Given the description of an element on the screen output the (x, y) to click on. 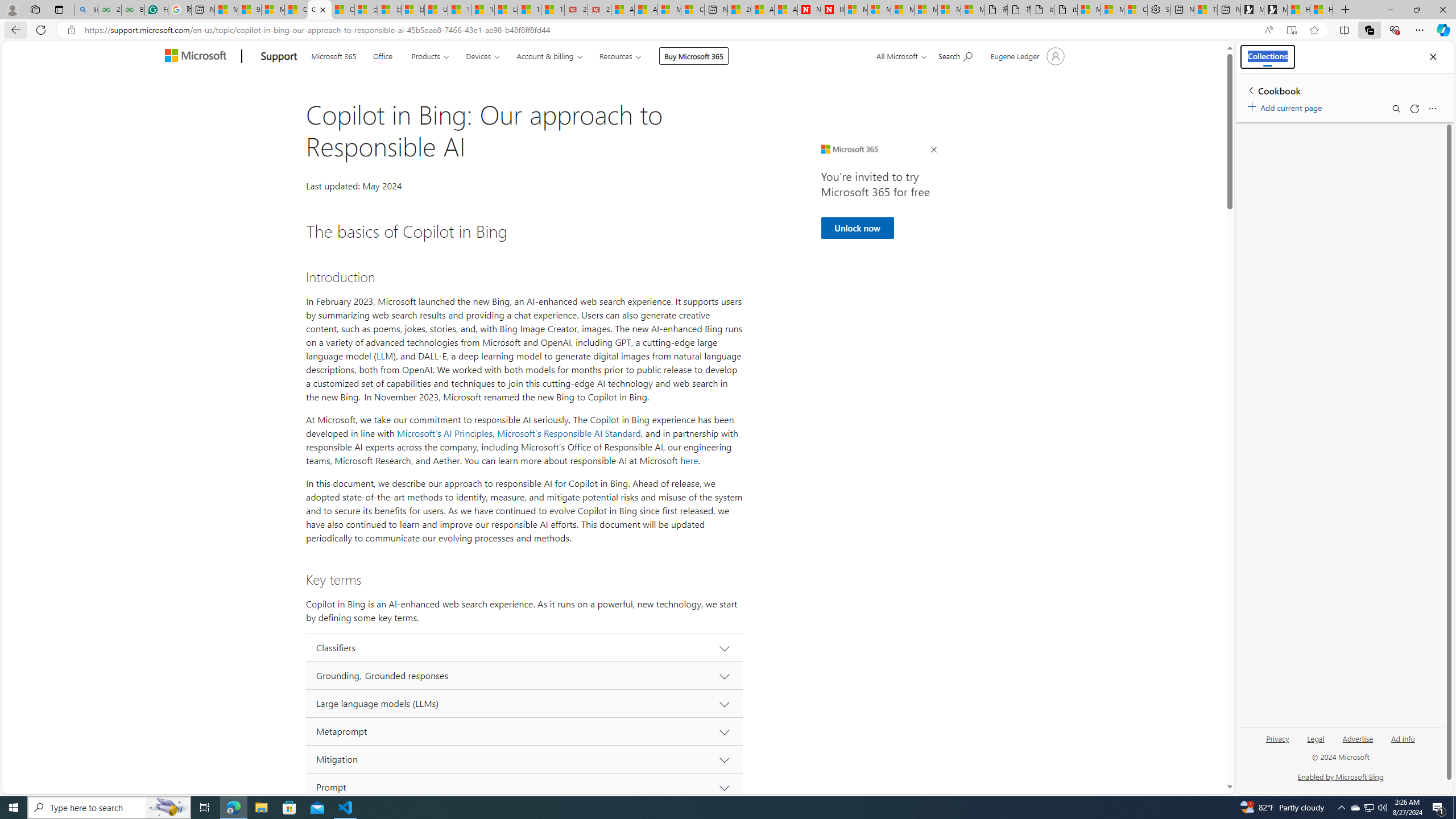
Unlock now (857, 228)
15 Ways Modern Life Contradicts the Teachings of Jesus (552, 9)
Newsweek - News, Analysis, Politics, Business, Technology (809, 9)
Lifestyle - MSN (505, 9)
